Given the description of an element on the screen output the (x, y) to click on. 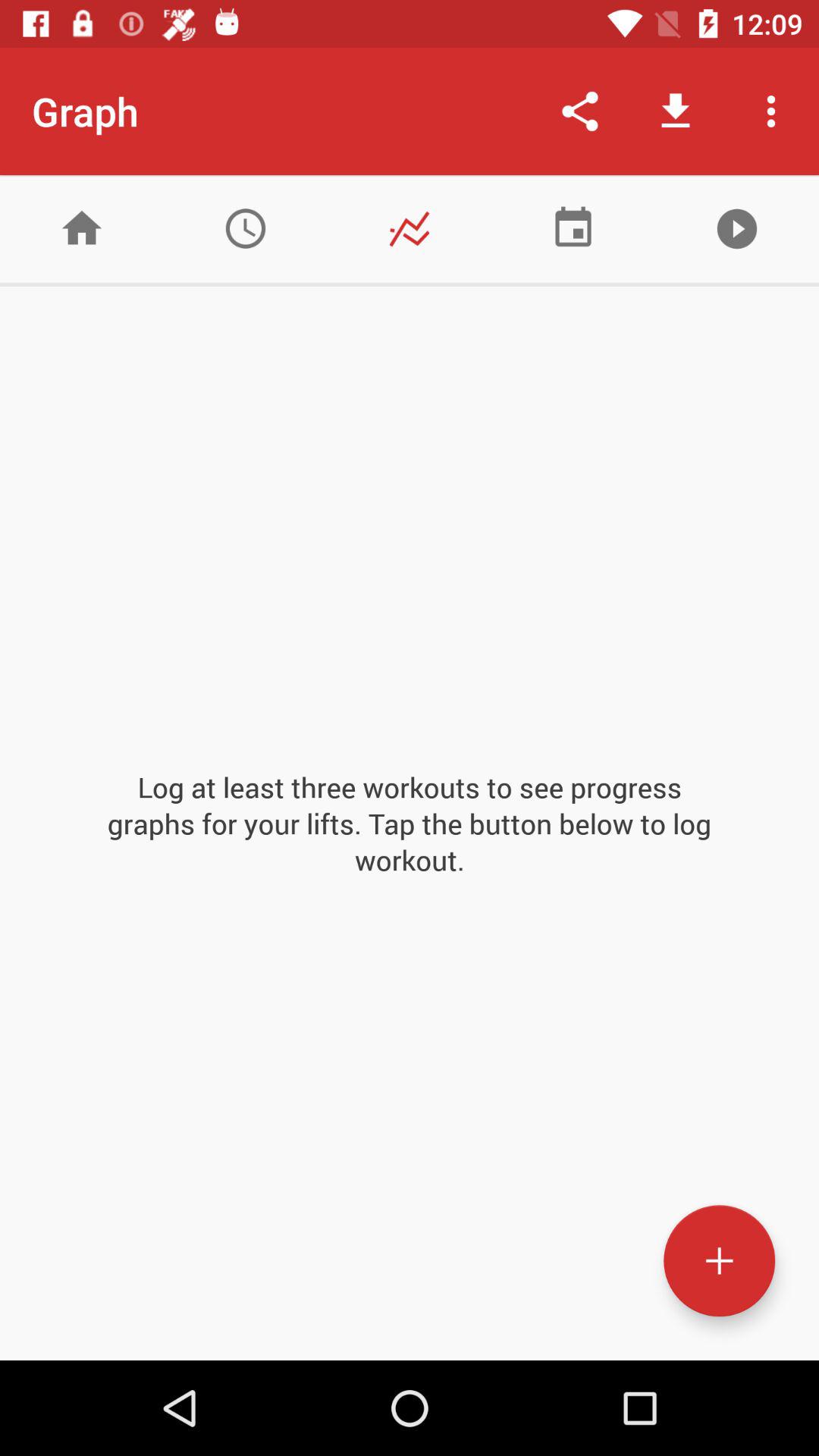
add workout (719, 1260)
